Given the description of an element on the screen output the (x, y) to click on. 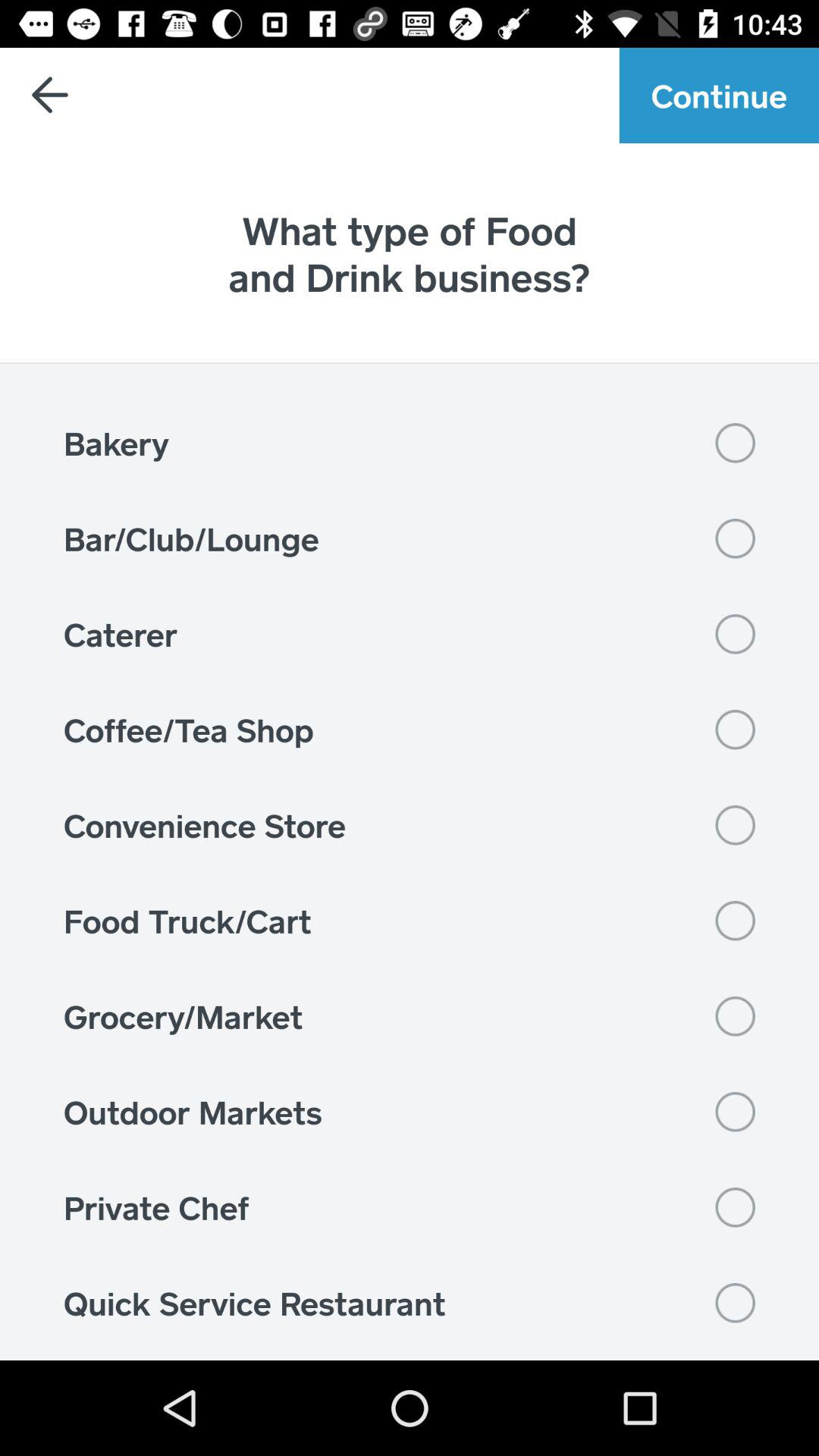
jump to sit-down restaurant item (409, 1355)
